Given the description of an element on the screen output the (x, y) to click on. 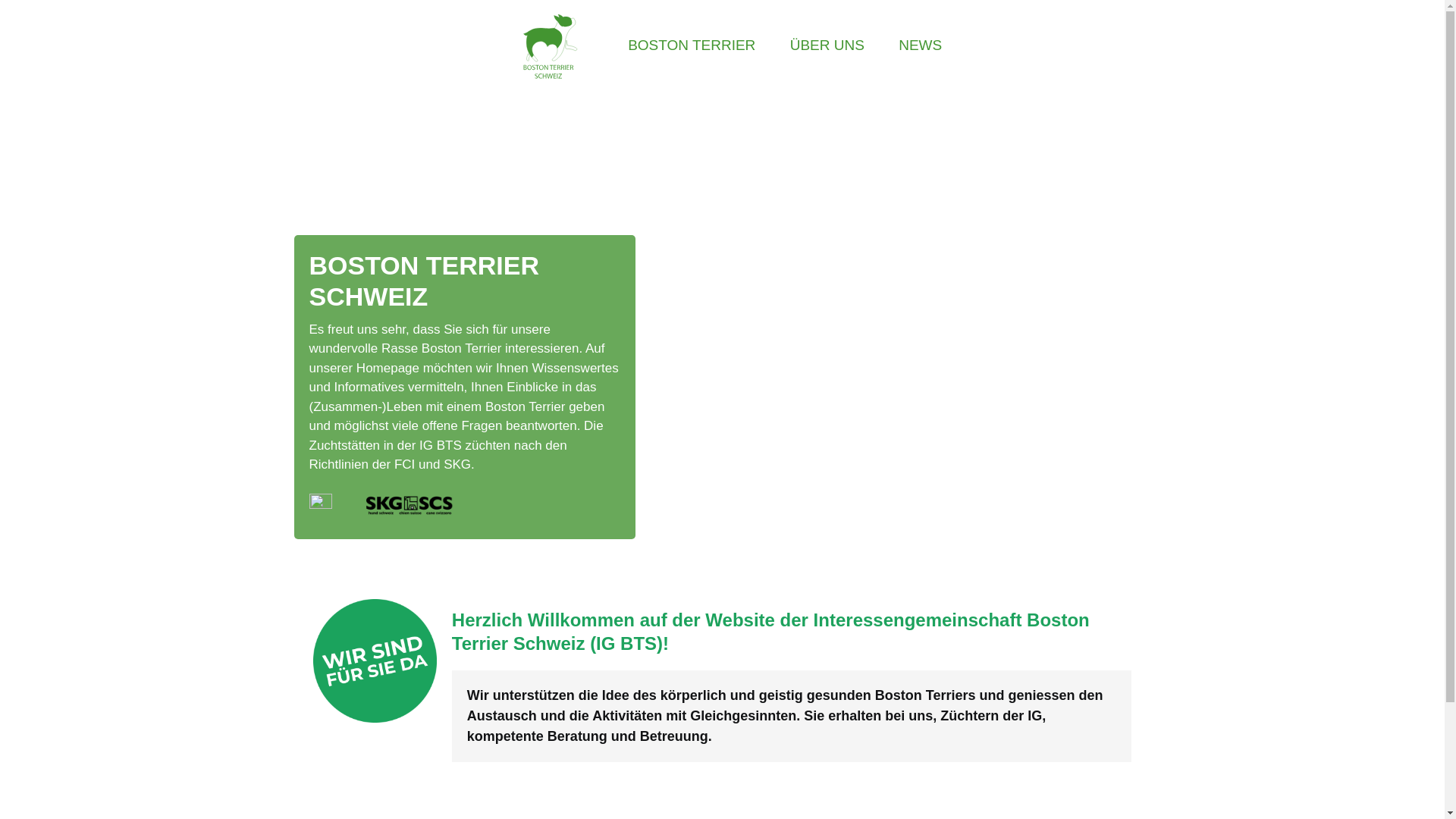
BOSTON TERRIER Element type: text (691, 45)
NEWS Element type: text (919, 45)
HOME Element type: text (547, 45)
